Given the description of an element on the screen output the (x, y) to click on. 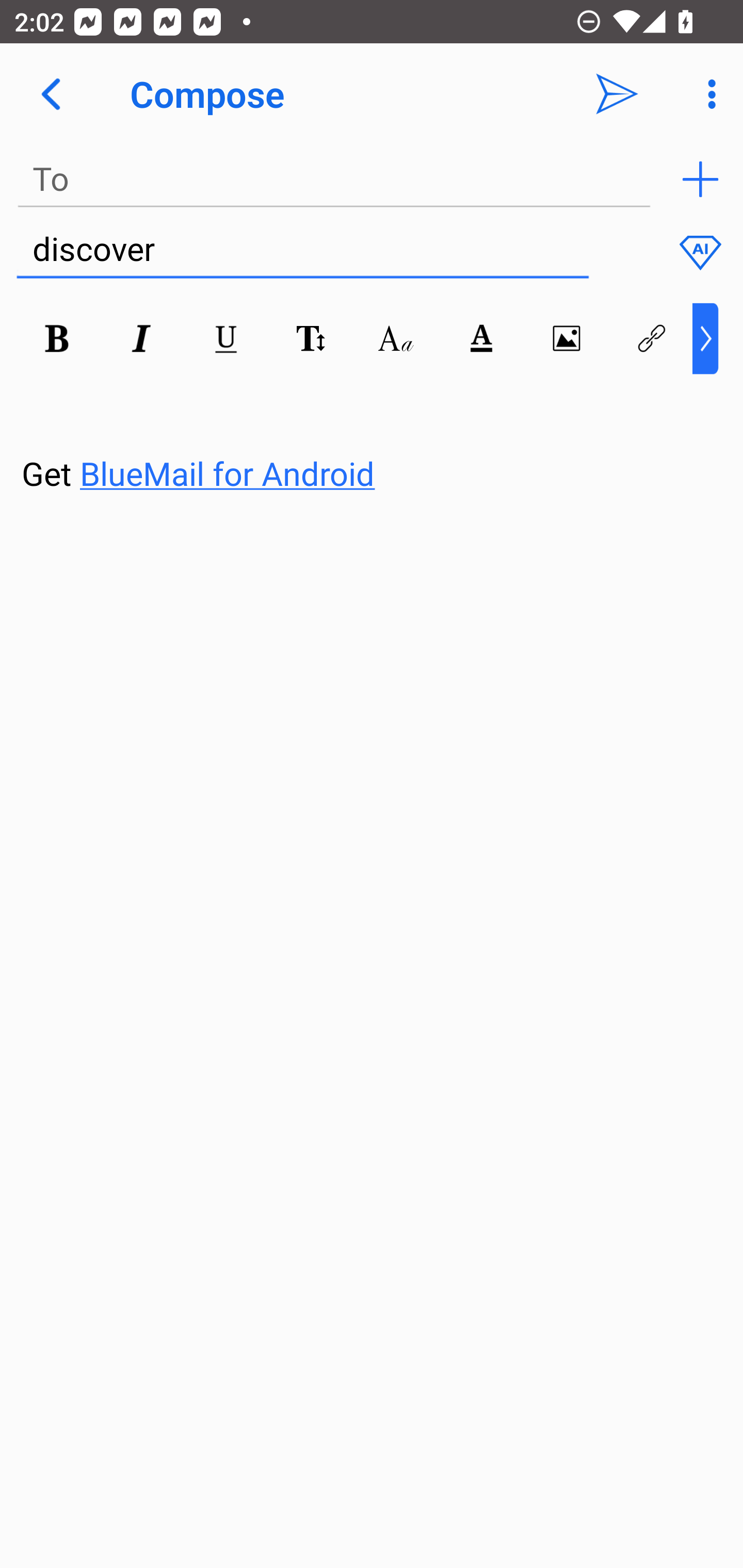
Navigate up (50, 93)
Send (616, 93)
More Options (706, 93)
To (334, 179)
Add recipient (To) (699, 179)
discover (302, 249)


⁣Get BlueMail for Android ​ (355, 435)
